Given the description of an element on the screen output the (x, y) to click on. 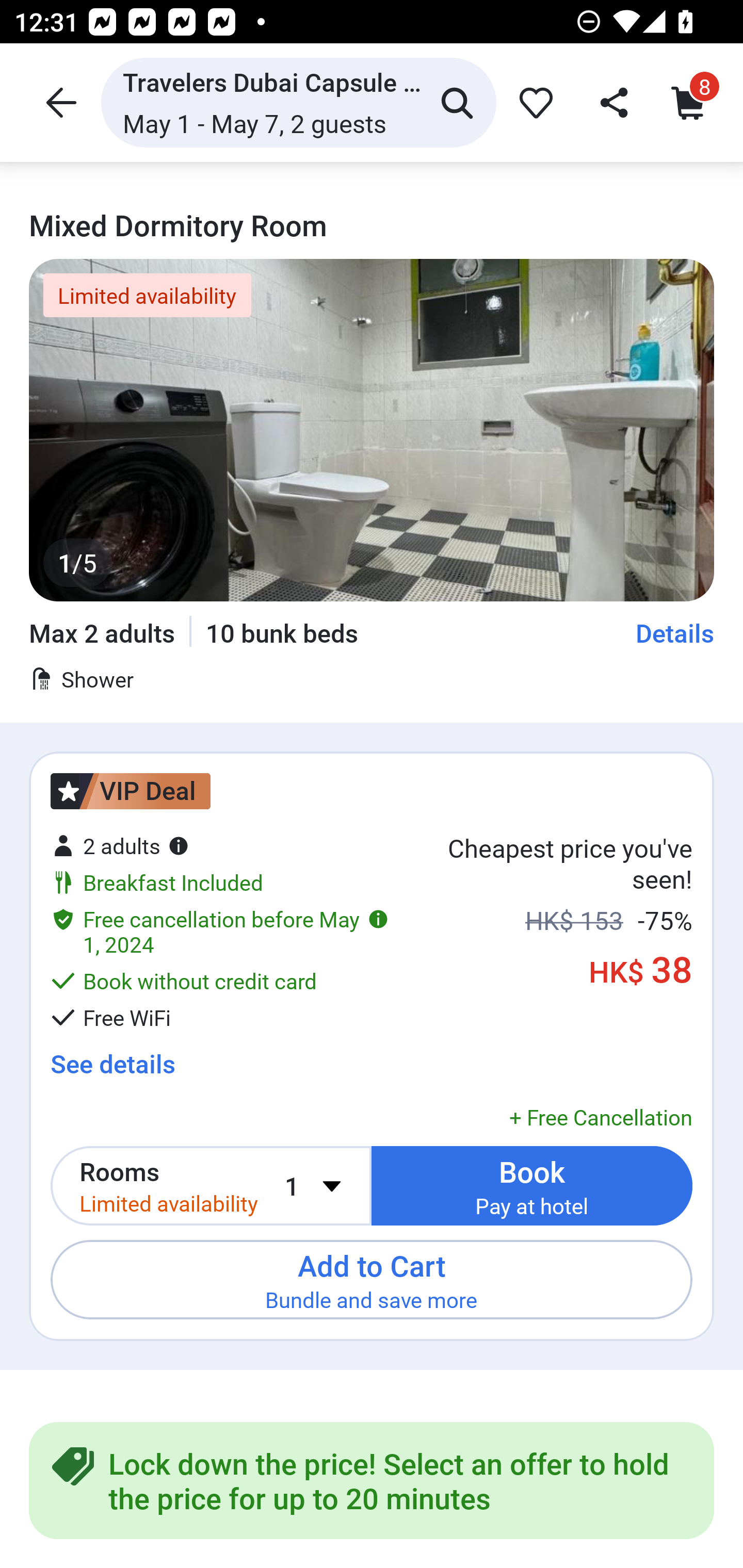
header icon (59, 102)
favorite_icon 0dbe6efb (532, 102)
share_header_icon (608, 102)
Cart icon cart_item_count 8 (687, 102)
image (371, 430)
Details (674, 632)
2 adults (119, 844)
Free cancellation before May 1, 2024 (219, 931)
See details (112, 1063)
Rooms Limited availability 1 (210, 1186)
Book Pay at hotel (531, 1186)
Add to Cart Bundle and save more (371, 1279)
